Given the description of an element on the screen output the (x, y) to click on. 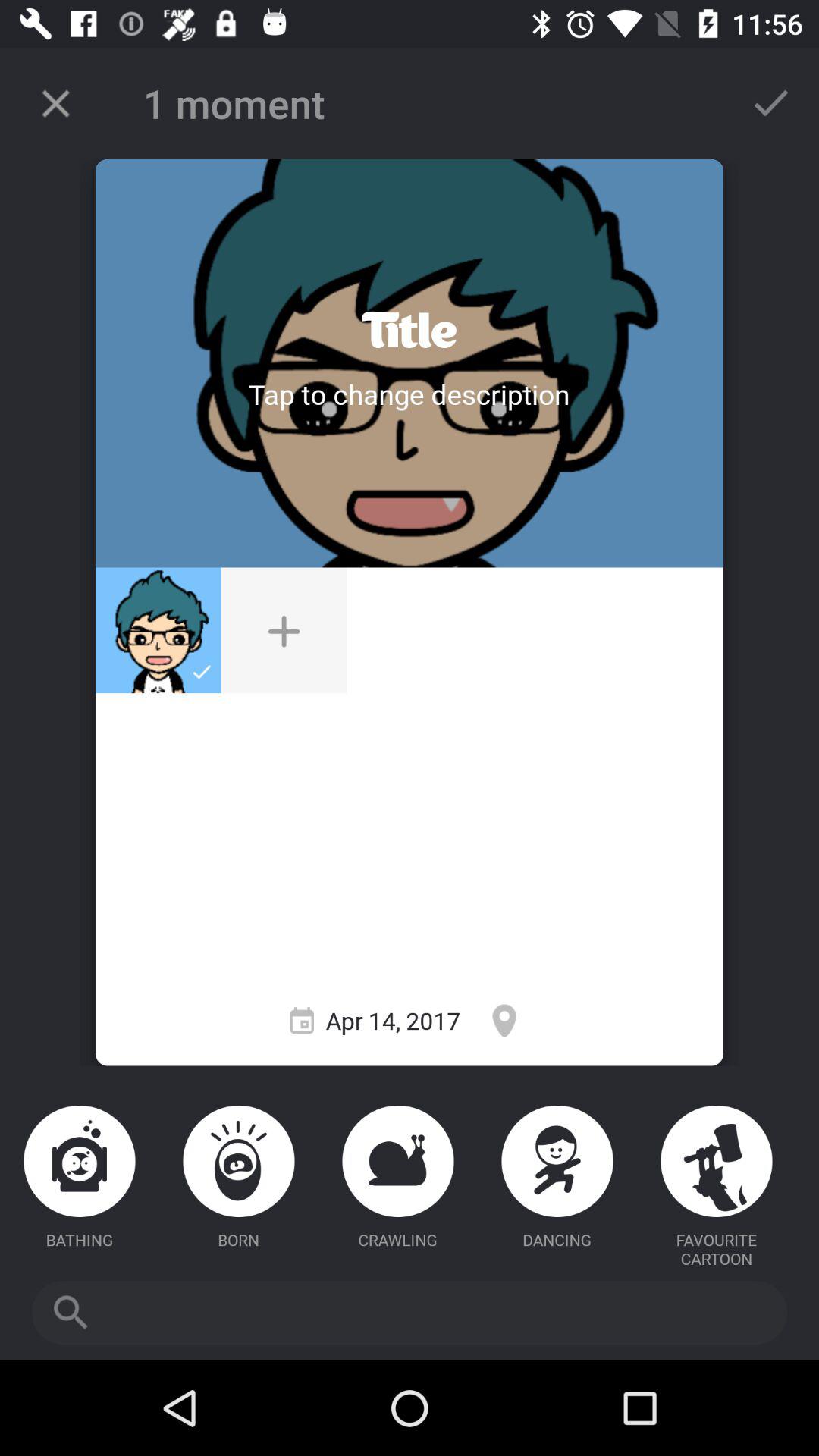
add image (283, 630)
